Given the description of an element on the screen output the (x, y) to click on. 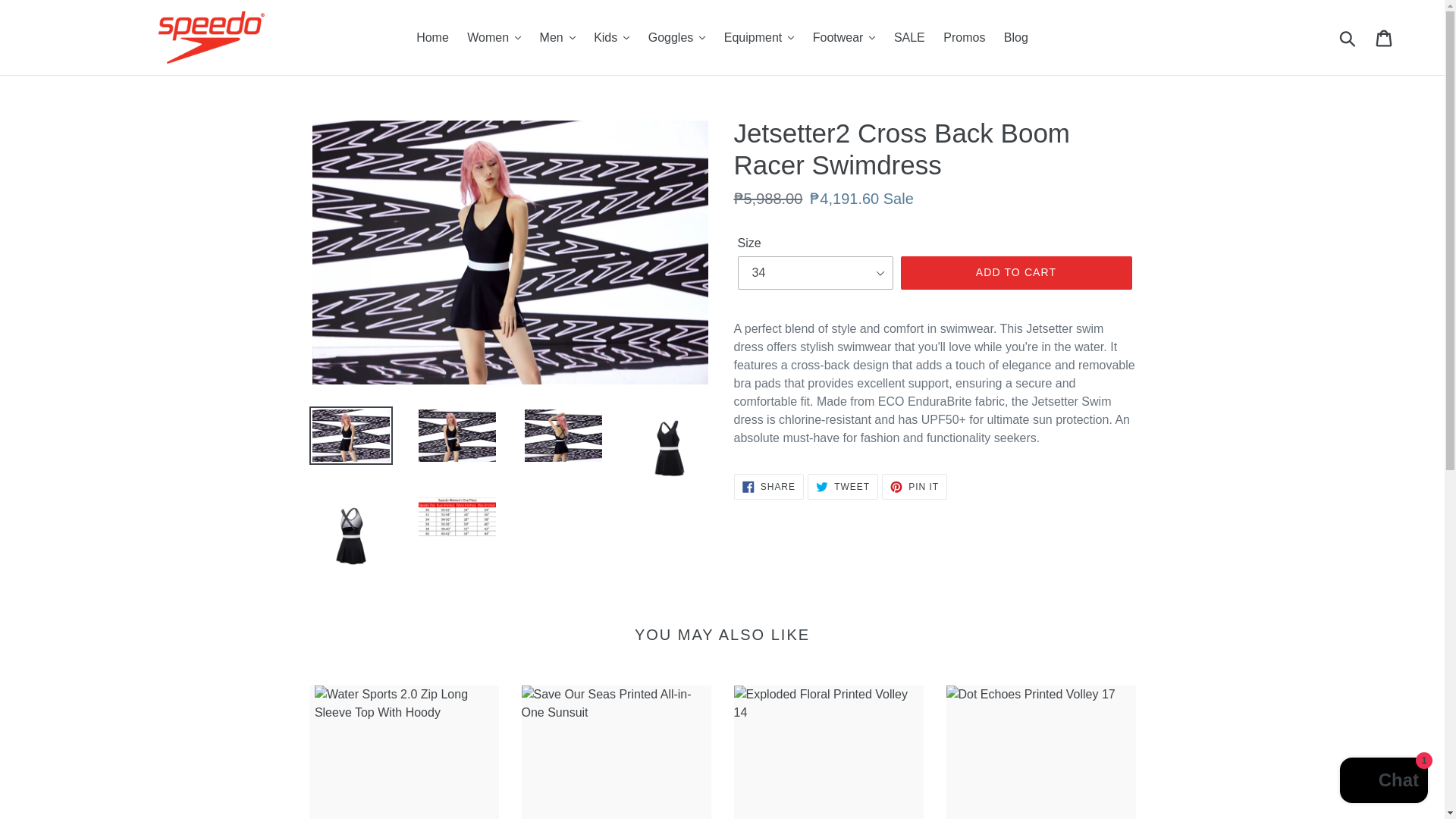
Home (433, 36)
Shopify online store chat (1383, 781)
